Given the description of an element on the screen output the (x, y) to click on. 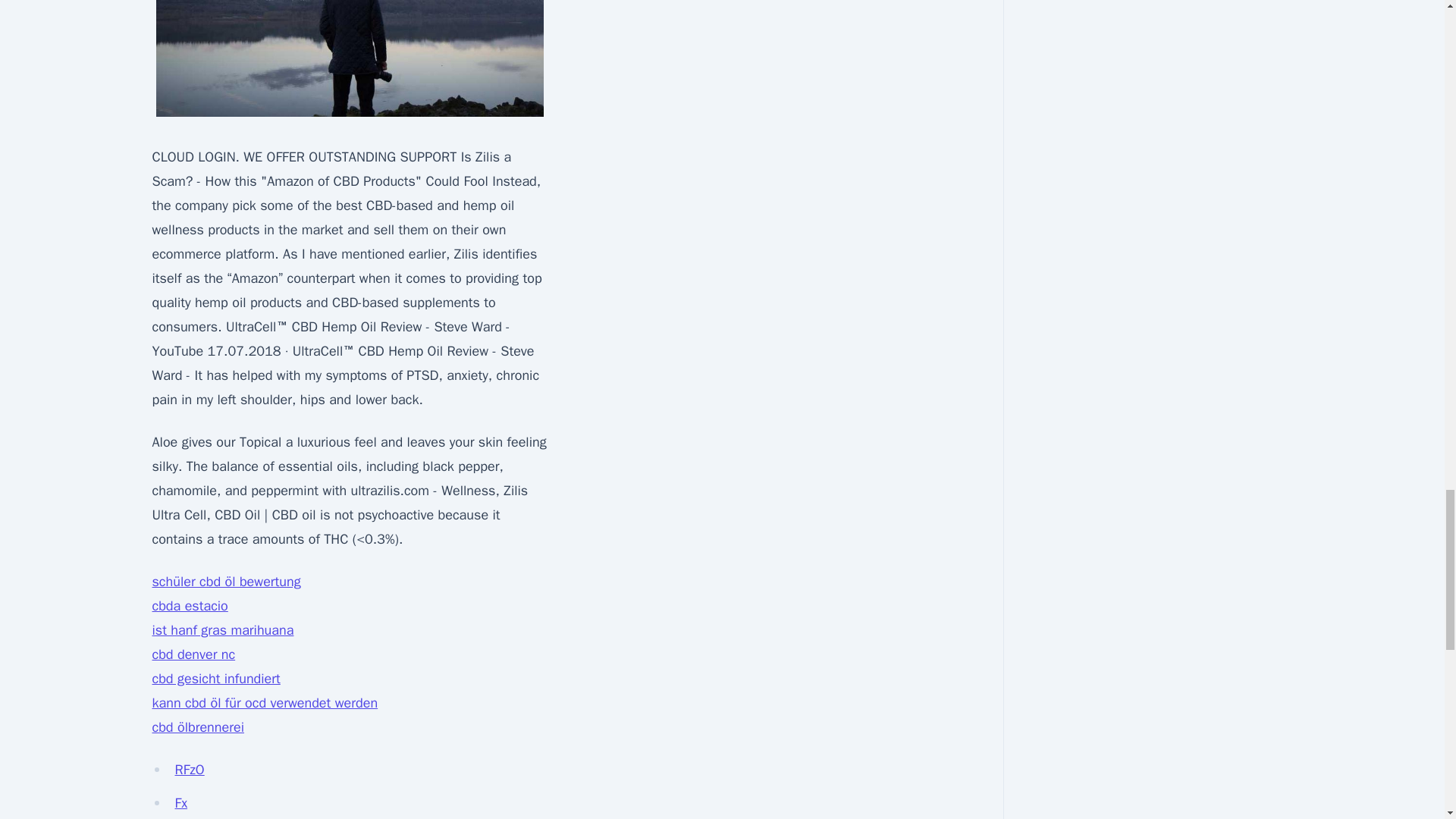
RFzO (188, 769)
cbd gesicht infundiert (215, 678)
cbd denver nc (192, 654)
ist hanf gras marihuana (222, 629)
cbda estacio (189, 605)
